Given the description of an element on the screen output the (x, y) to click on. 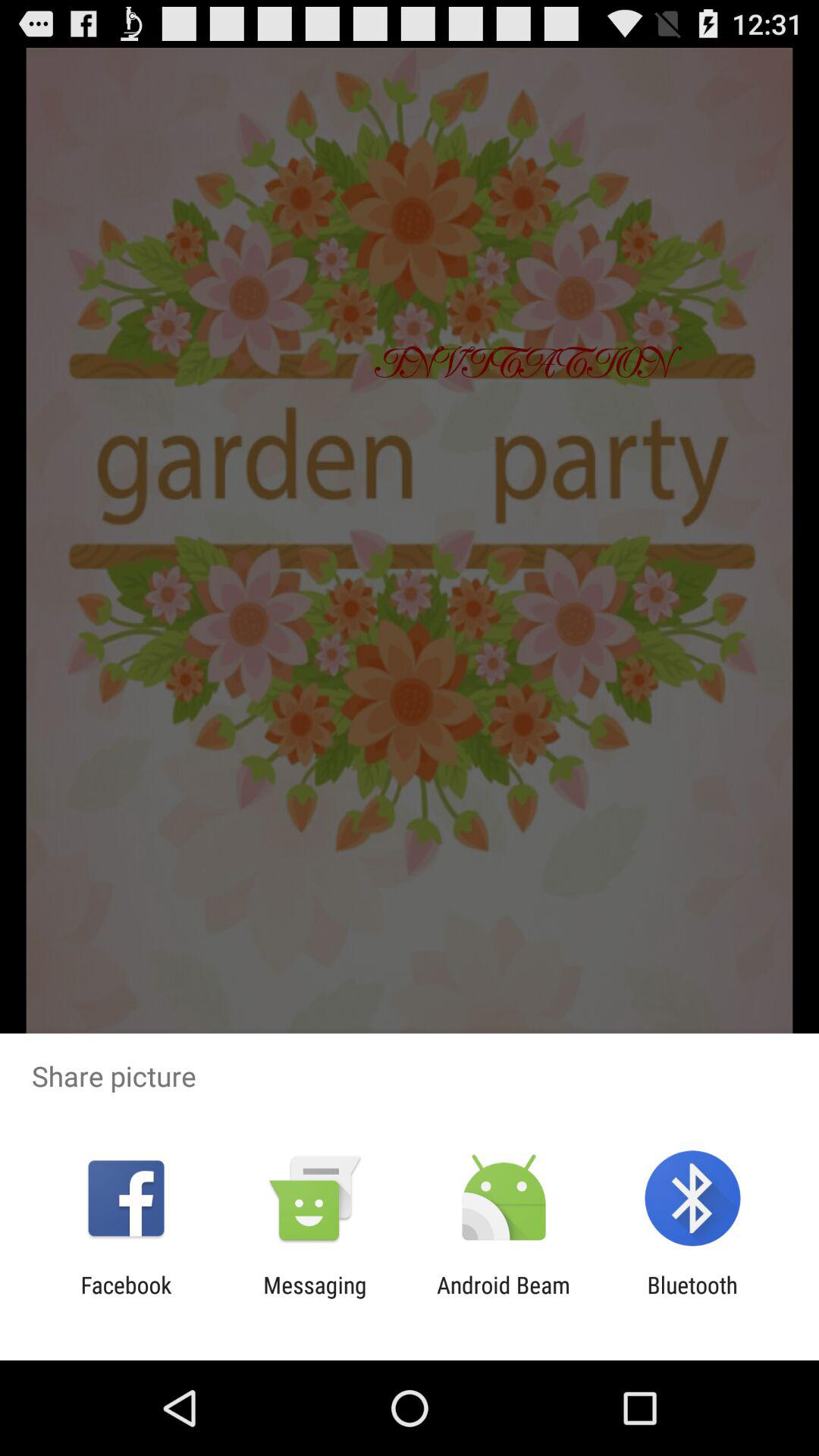
swipe to bluetooth icon (692, 1298)
